Given the description of an element on the screen output the (x, y) to click on. 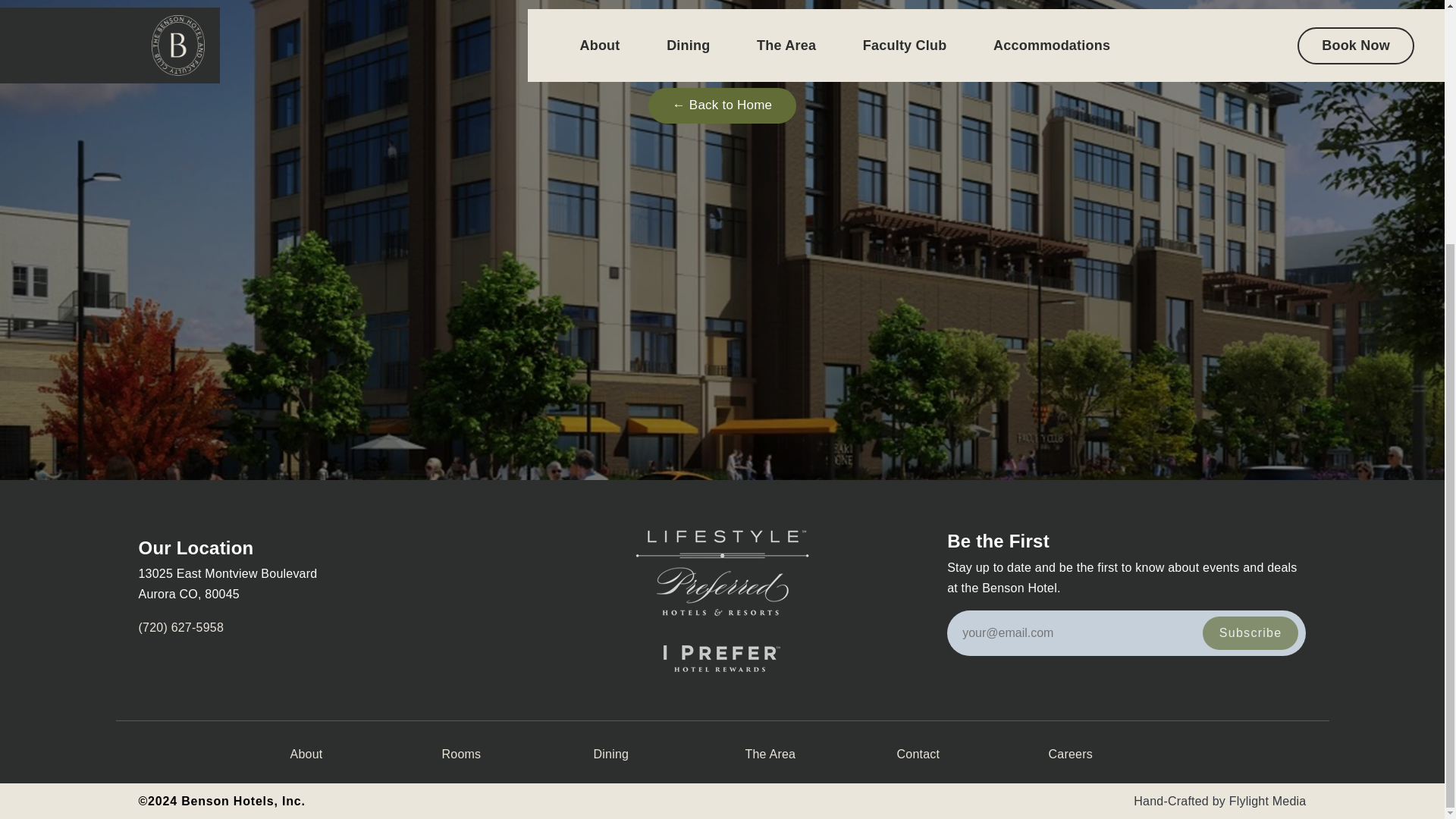
Rooms (460, 753)
Hand Crafted by Flylight Media in Portsmouth, NH (1267, 800)
Contact Us (917, 753)
The Benson Hotel Homepage (721, 105)
Careers (1070, 753)
Subscribe (1250, 633)
About (305, 753)
Subscribe (1250, 633)
Dining (610, 753)
Rooms (460, 753)
